Given the description of an element on the screen output the (x, y) to click on. 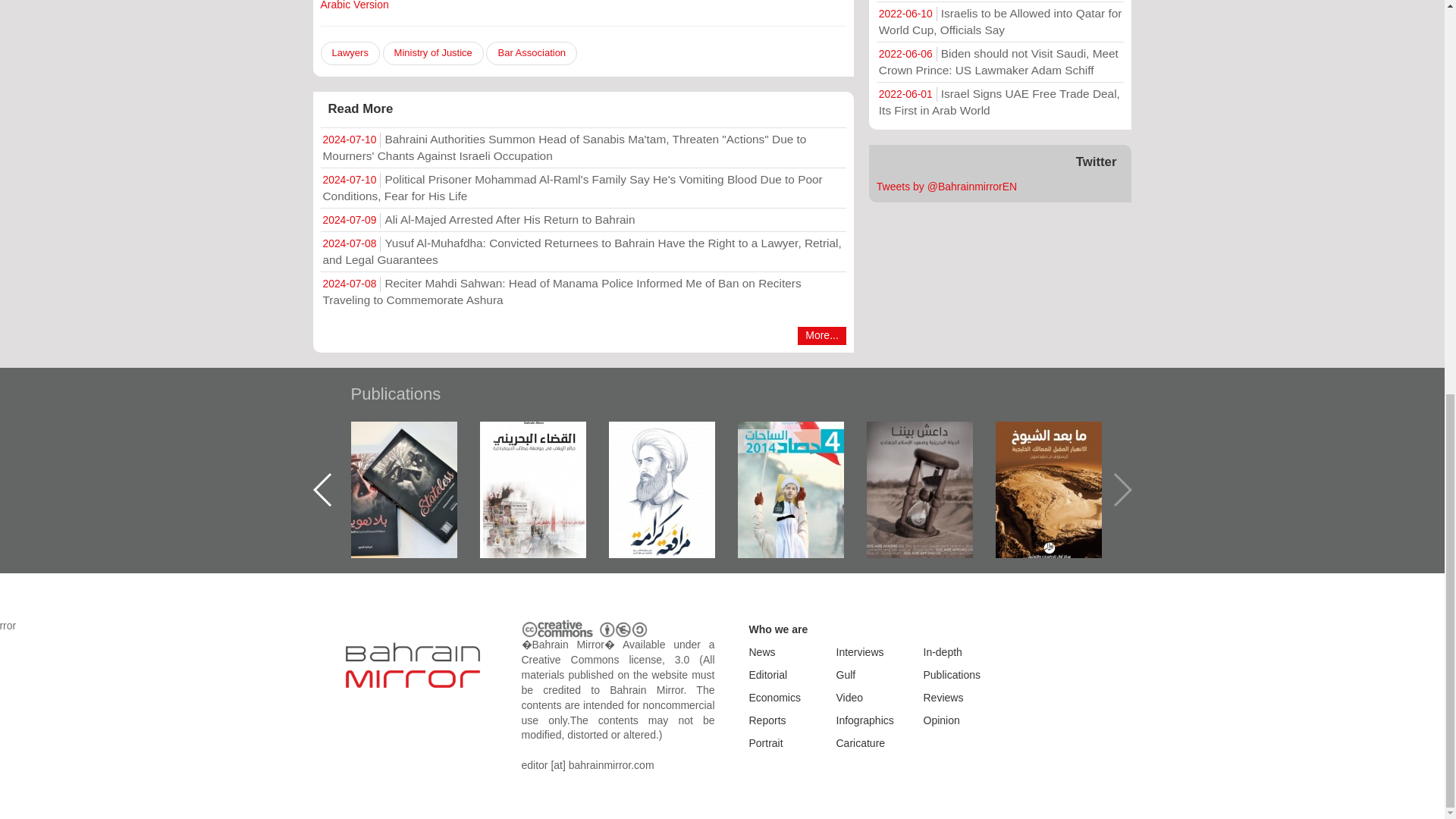
Bar Association (531, 53)
Arabic Version (354, 5)
Ministry of Justice (432, 53)
Lawyers (349, 53)
